Given the description of an element on the screen output the (x, y) to click on. 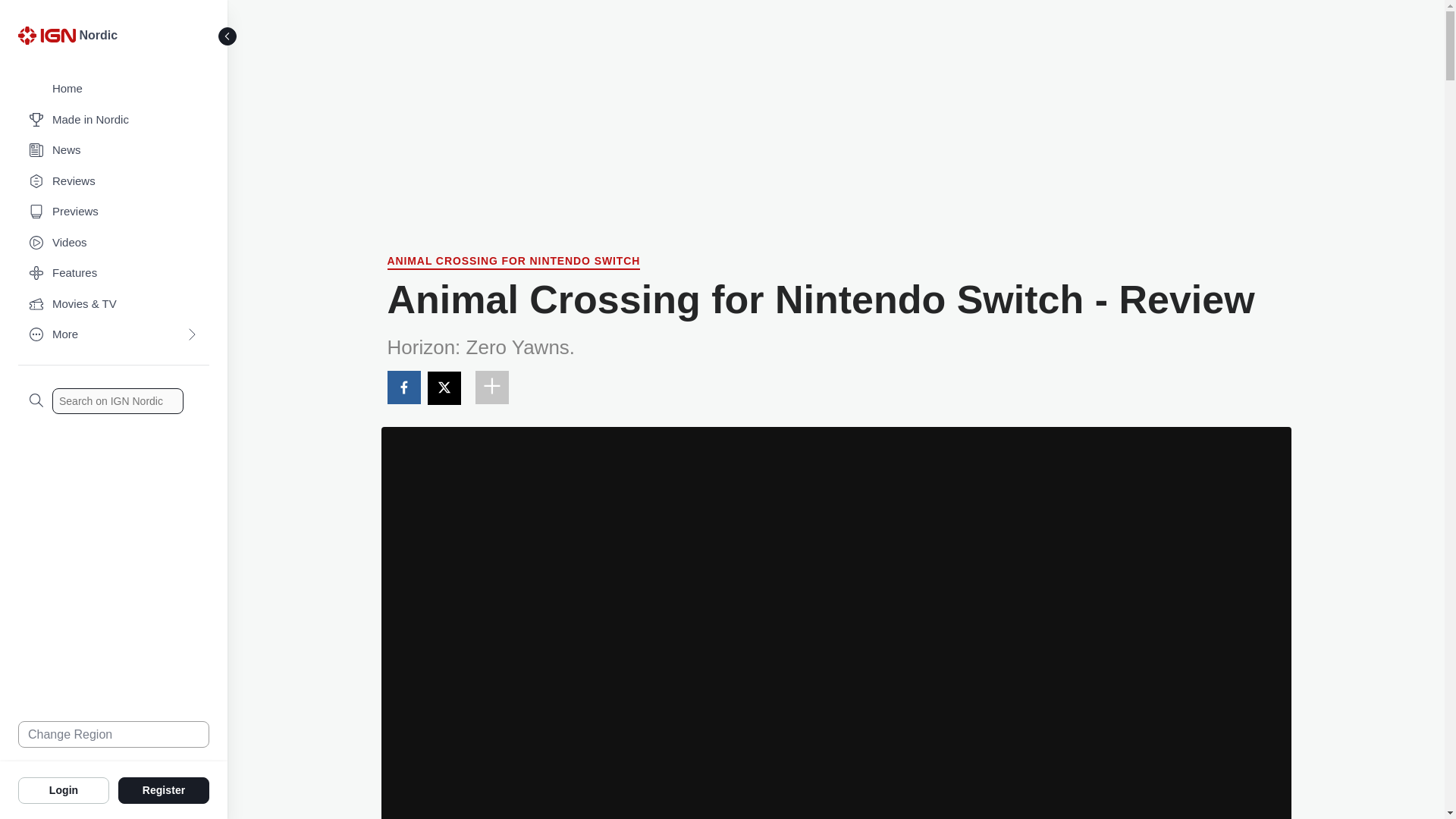
Toggle Sidebar (226, 36)
Home (113, 89)
Features (113, 273)
Videos (113, 242)
News (113, 150)
Animal Crossing for Nintendo Switch (513, 262)
Login (63, 789)
Made in Nordic (113, 119)
Previews (113, 211)
IGN Logo (48, 39)
Register (163, 789)
More (113, 334)
ANIMAL CROSSING FOR NINTENDO SWITCH (513, 262)
Reviews (113, 181)
IGN Logo (46, 34)
